Given the description of an element on the screen output the (x, y) to click on. 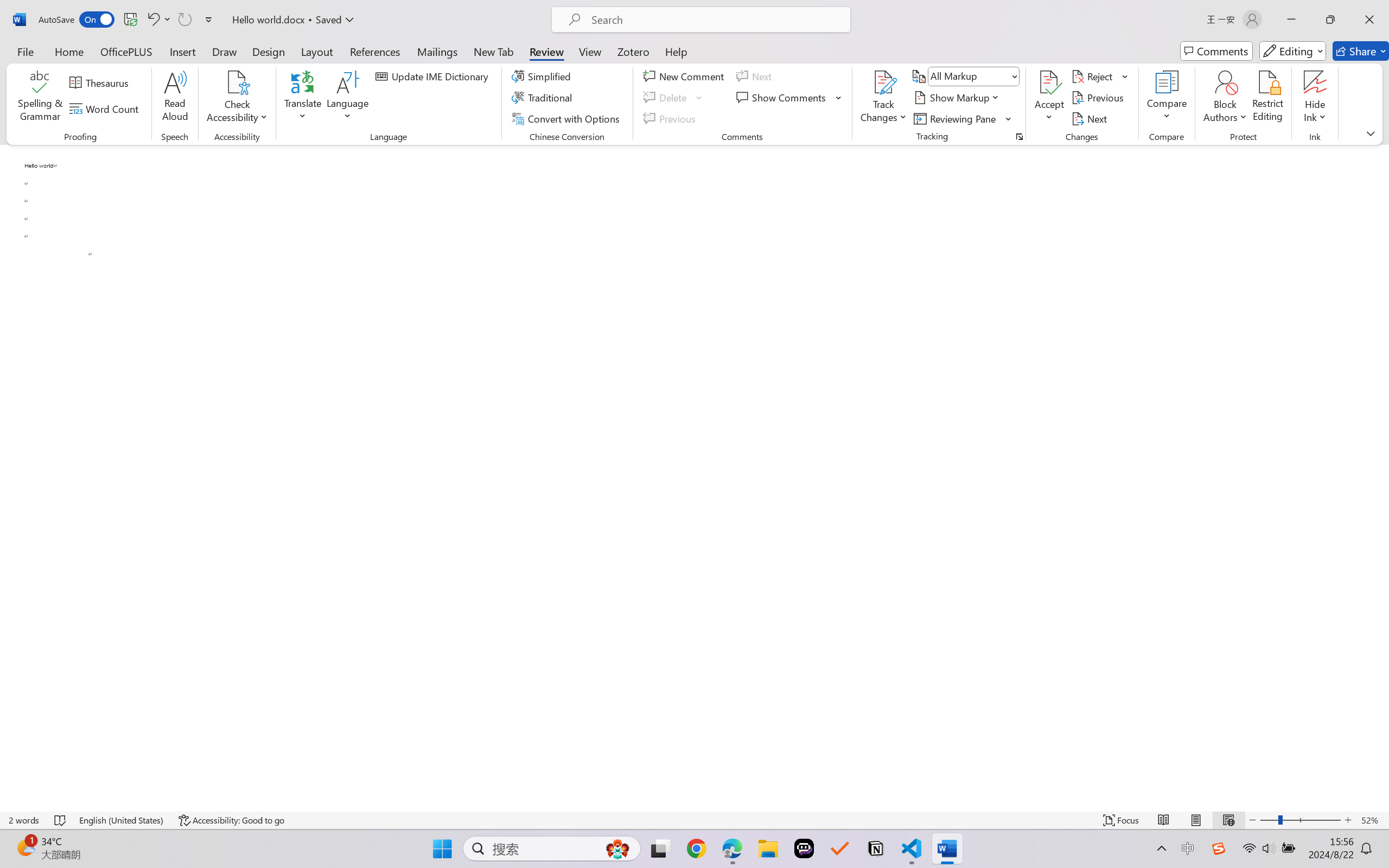
New Comment (685, 75)
Class: MsoCommandBar (694, 819)
Insert (182, 51)
Restrict Editing (1267, 97)
Accept (1049, 97)
Print Layout (1196, 819)
Zoom In (1348, 819)
AutomationID: DynamicSearchBoxGleamImage (617, 848)
View (589, 51)
Zoom (1300, 819)
Undo Click and Type Formatting (158, 19)
Quick Access Toolbar (127, 19)
Close (1369, 19)
Thesaurus... (101, 82)
